Given the description of an element on the screen output the (x, y) to click on. 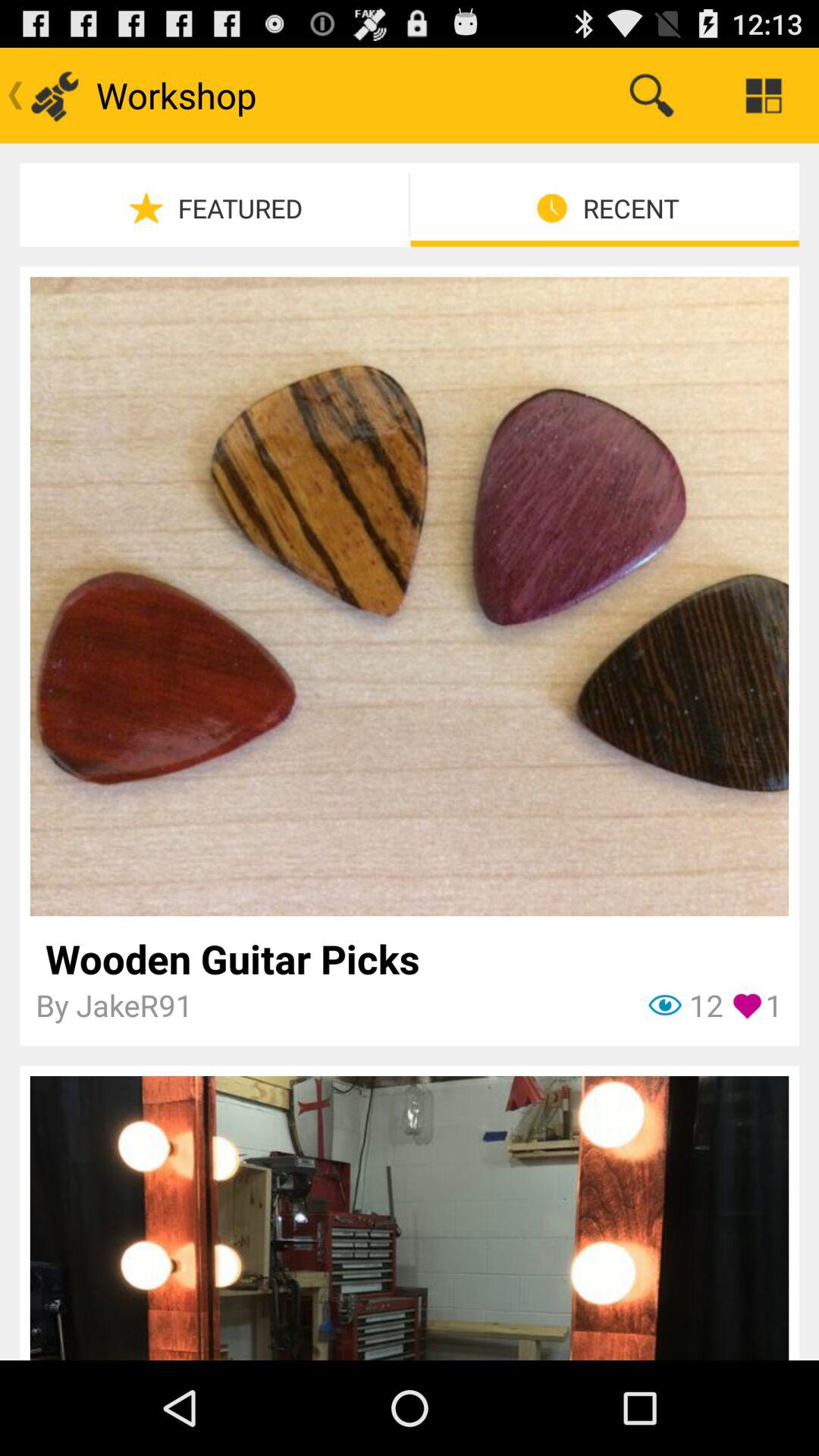
tap the  wooden guitar picks (408, 958)
